Given the description of an element on the screen output the (x, y) to click on. 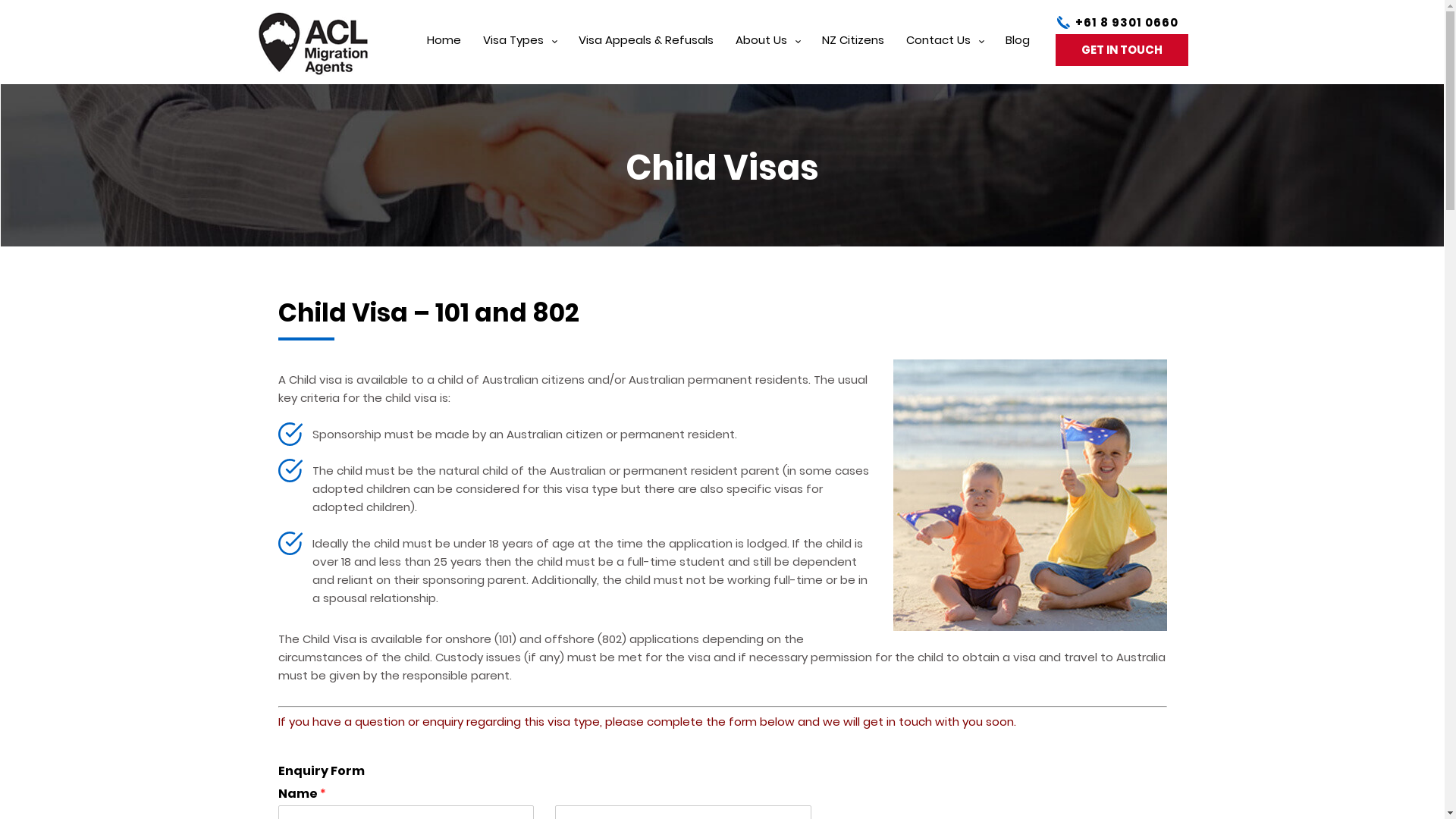
Visa Appeals & Refusals Element type: text (645, 59)
Home Element type: text (443, 59)
+61 8 9301 0660 Element type: text (1126, 22)
Blog Element type: text (1017, 59)
About Us Element type: text (767, 59)
Child visa Australia Element type: hover (1030, 494)
GET IN TOUCH Element type: text (1121, 49)
Contact Us Element type: text (944, 59)
Visa Types Element type: text (519, 59)
NZ Citizens Element type: text (852, 59)
